Given the description of an element on the screen output the (x, y) to click on. 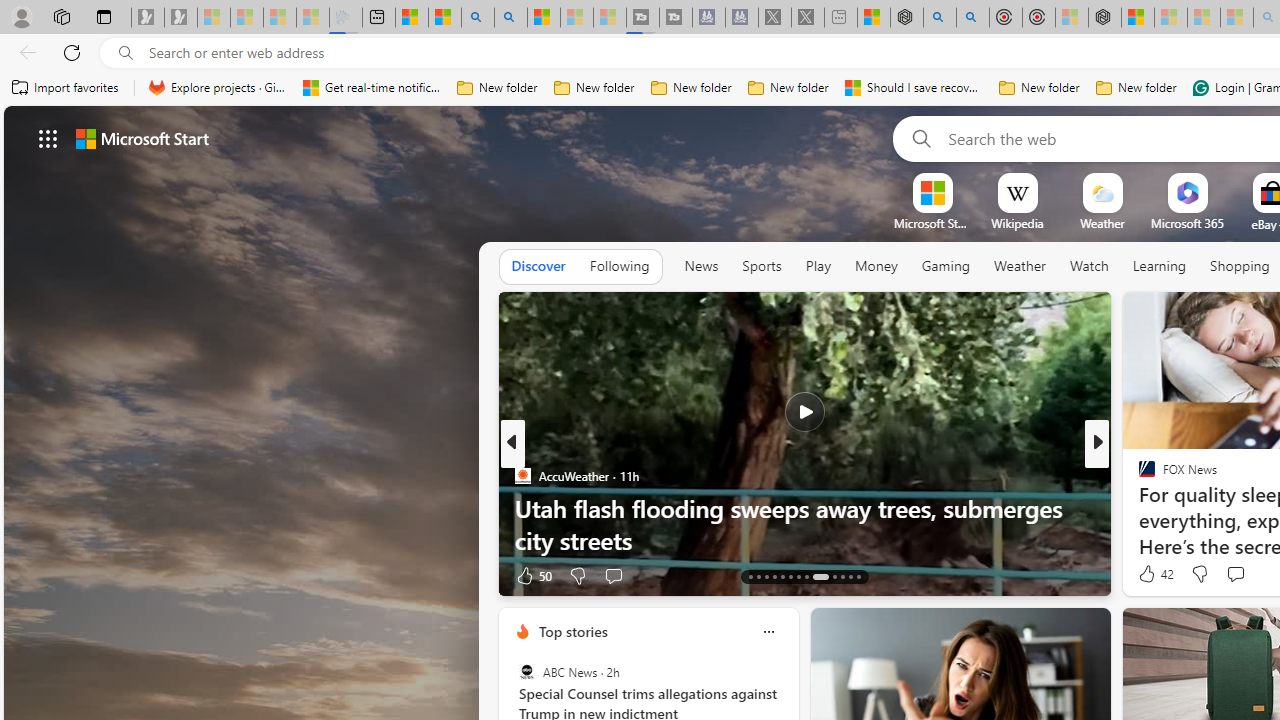
Should I save recovered Word documents? - Microsoft Support (913, 88)
View comments 4 Comment (1229, 575)
The Wall Street Journal (1138, 507)
Learning (1159, 267)
Money (876, 267)
Streaming Coverage | T3 - Sleeping (643, 17)
Search icon (125, 53)
View comments 2 Comment (1234, 575)
Nordace - Summer Adventures 2024 (906, 17)
View comments 1 Comment (11, 575)
View comments 2 Comment (1241, 574)
Microsoft Start - Sleeping (576, 17)
